Given the description of an element on the screen output the (x, y) to click on. 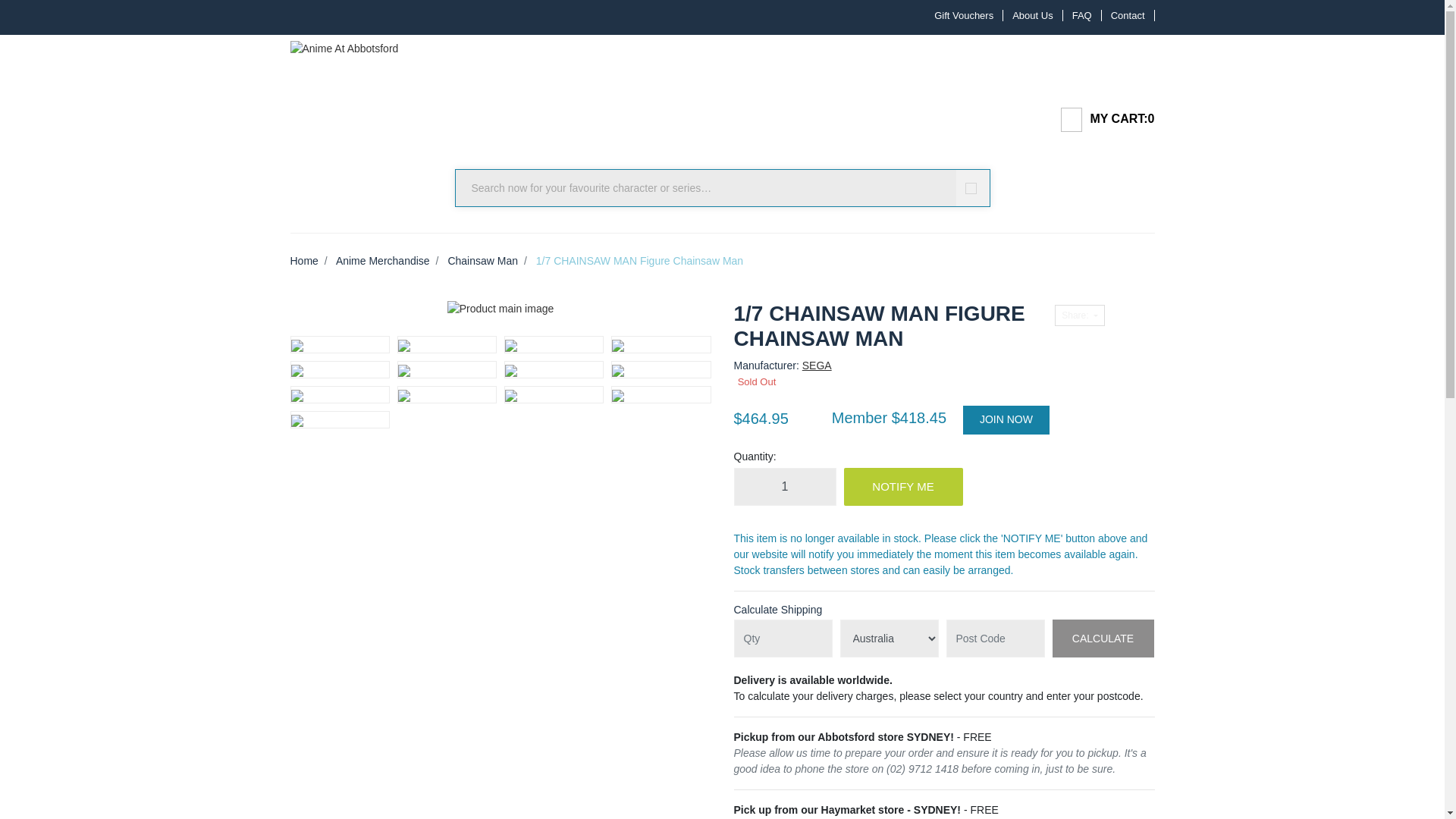
Calculate (1103, 638)
MY CART:0 (1101, 118)
About Us (1032, 15)
1 (784, 486)
Anime At Abbotsford (343, 44)
Gift Vouchers (963, 15)
FAQ (1082, 15)
Contact (1128, 15)
